Given the description of an element on the screen output the (x, y) to click on. 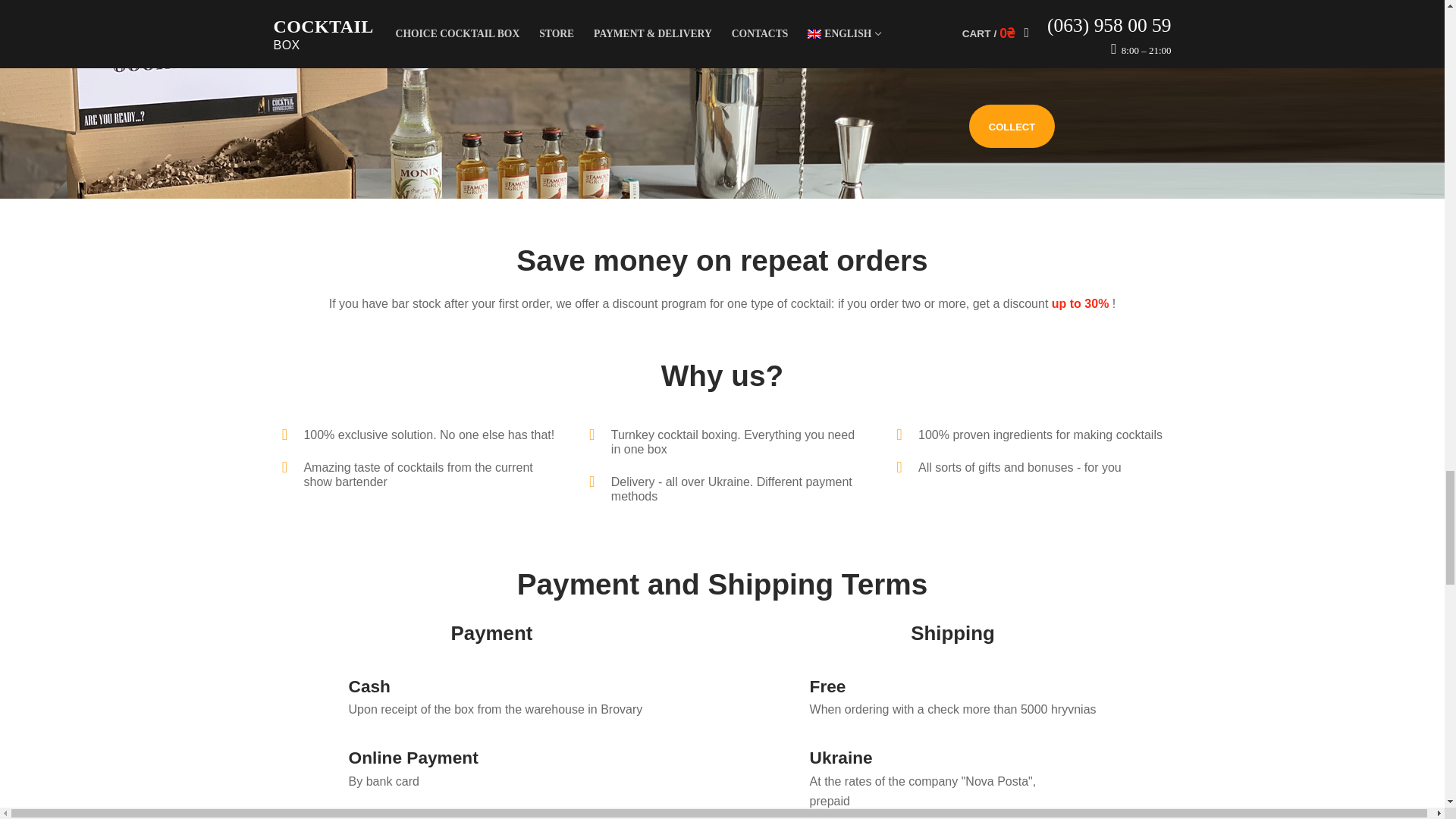
Collect (1011, 126)
